Given the description of an element on the screen output the (x, y) to click on. 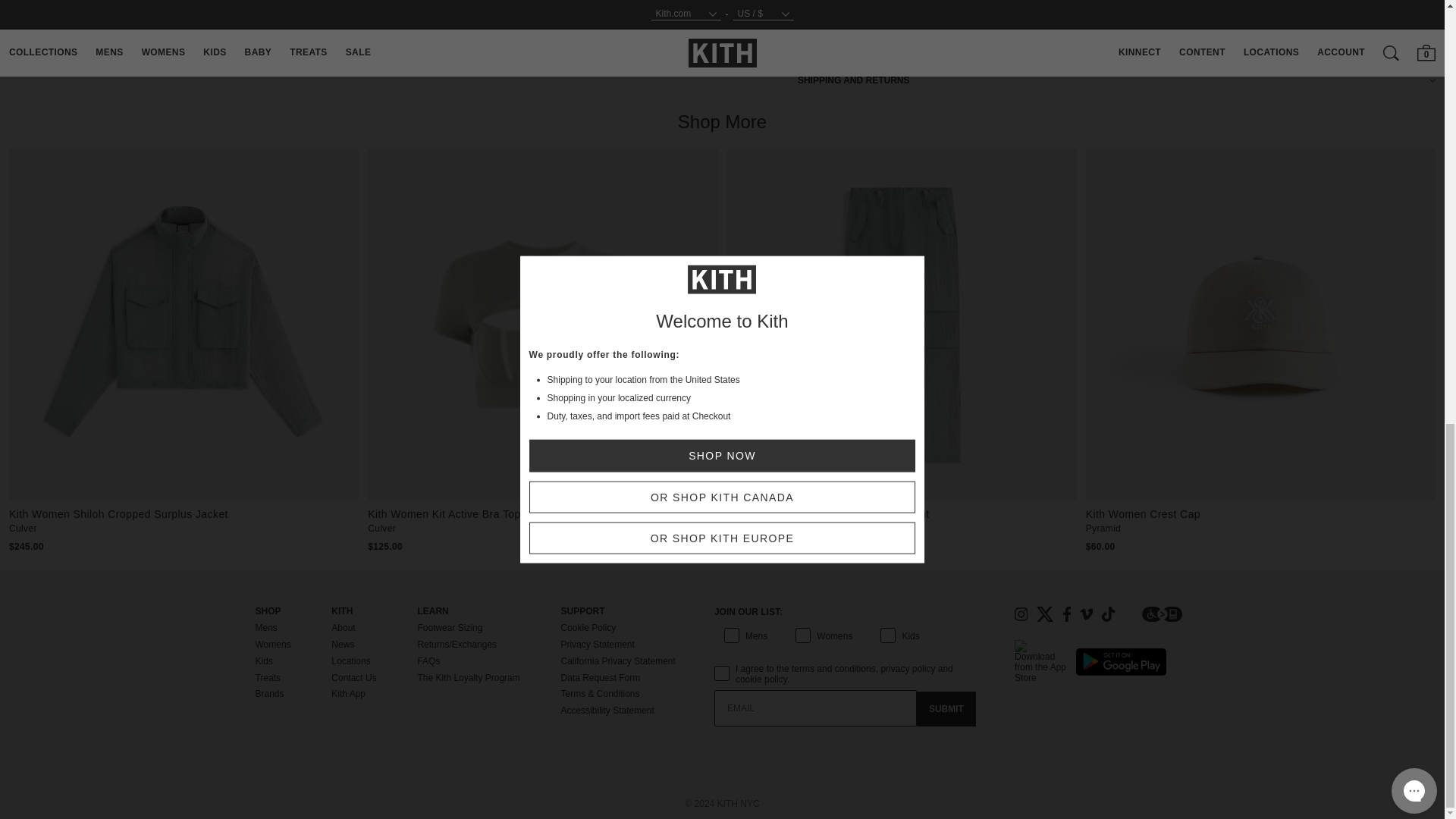
Facebook (1066, 613)
on (718, 638)
Vimeo (1086, 613)
X (1044, 613)
TikTok (1108, 613)
X (1044, 613)
Instagram (1020, 613)
Vimeo (1086, 613)
on (718, 657)
Facebook (1066, 613)
Instagram (1020, 613)
Tiktok (1108, 613)
essential Accessibility Icon (1161, 613)
on (875, 638)
